Given the description of an element on the screen output the (x, y) to click on. 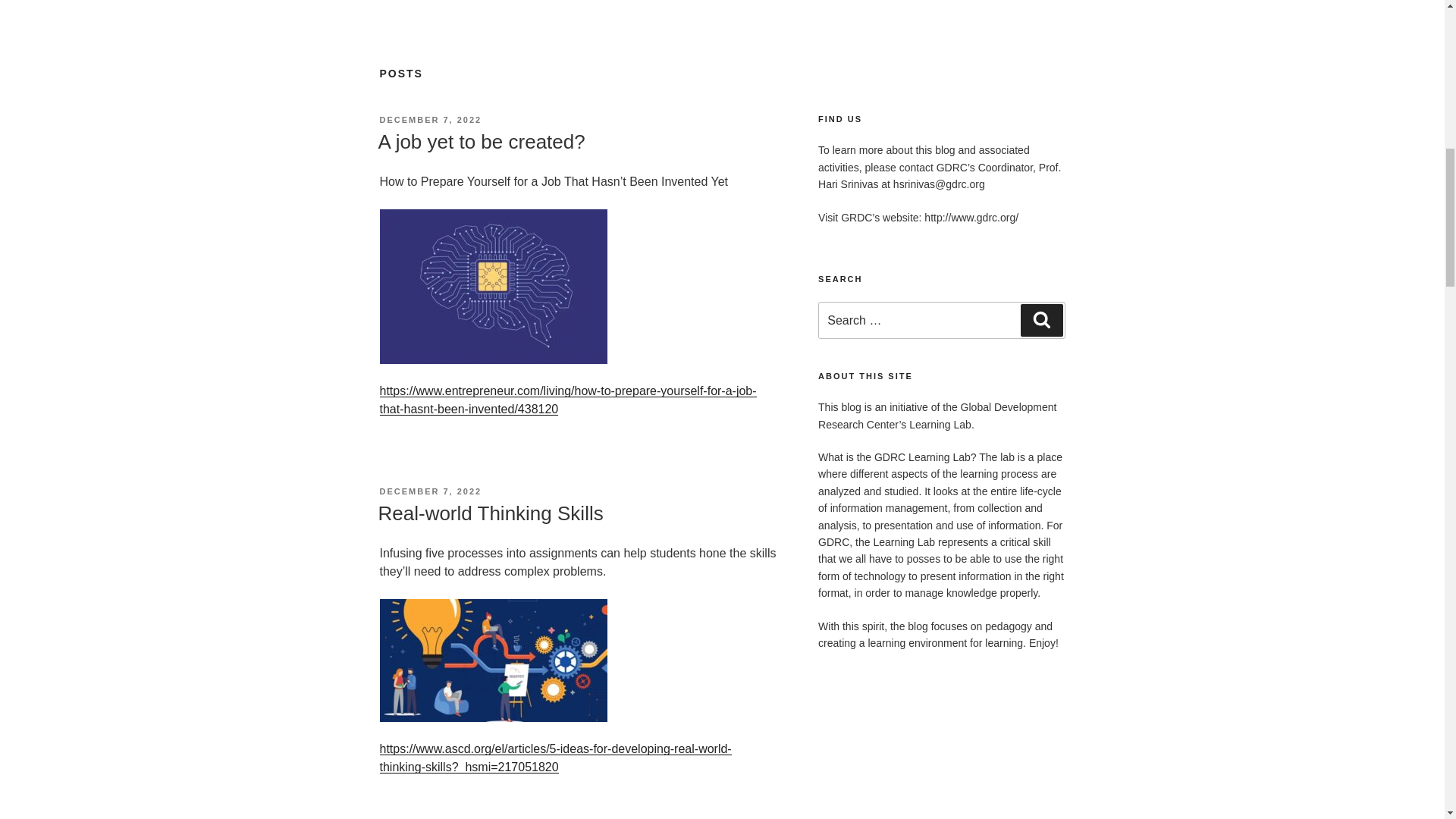
DECEMBER 7, 2022 (429, 491)
A job yet to be created? (481, 141)
Real-world Thinking Skills (489, 513)
DECEMBER 7, 2022 (429, 119)
